Given the description of an element on the screen output the (x, y) to click on. 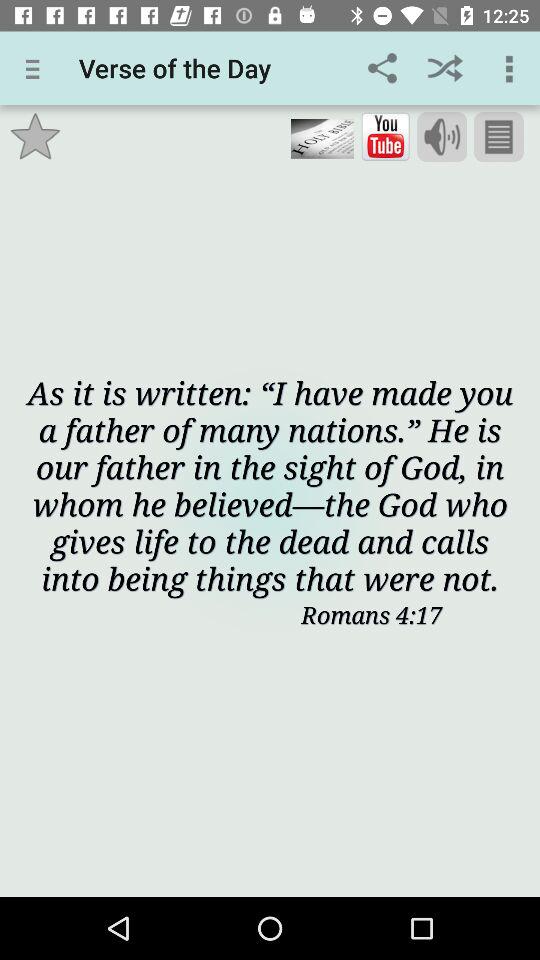
tap the item next to the verse of the (381, 67)
